Given the description of an element on the screen output the (x, y) to click on. 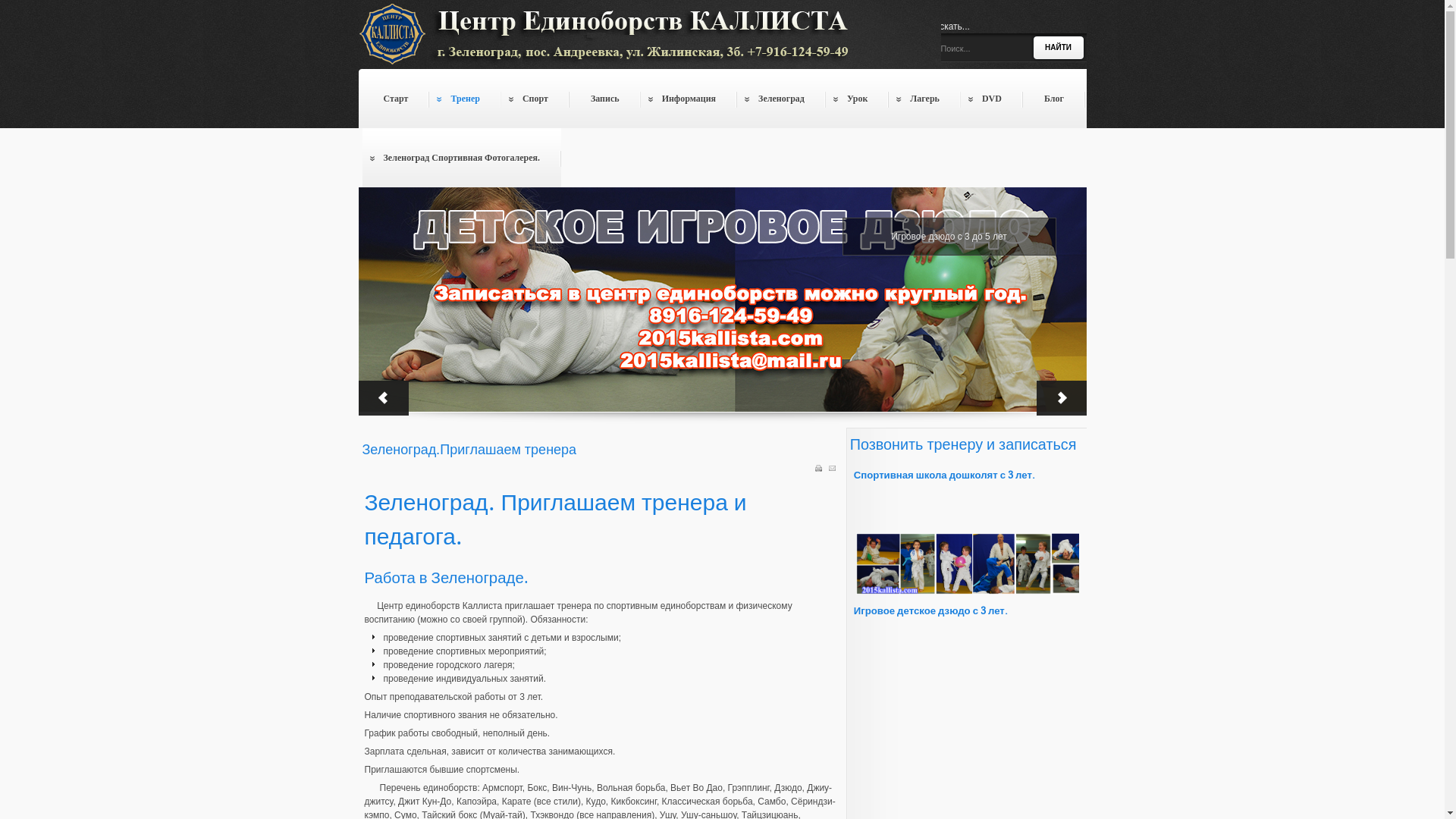
E-mail Element type: hover (831, 468)
next Element type: hover (1060, 397)
DVD Element type: text (991, 98)
previous Element type: hover (382, 397)
